Given the description of an element on the screen output the (x, y) to click on. 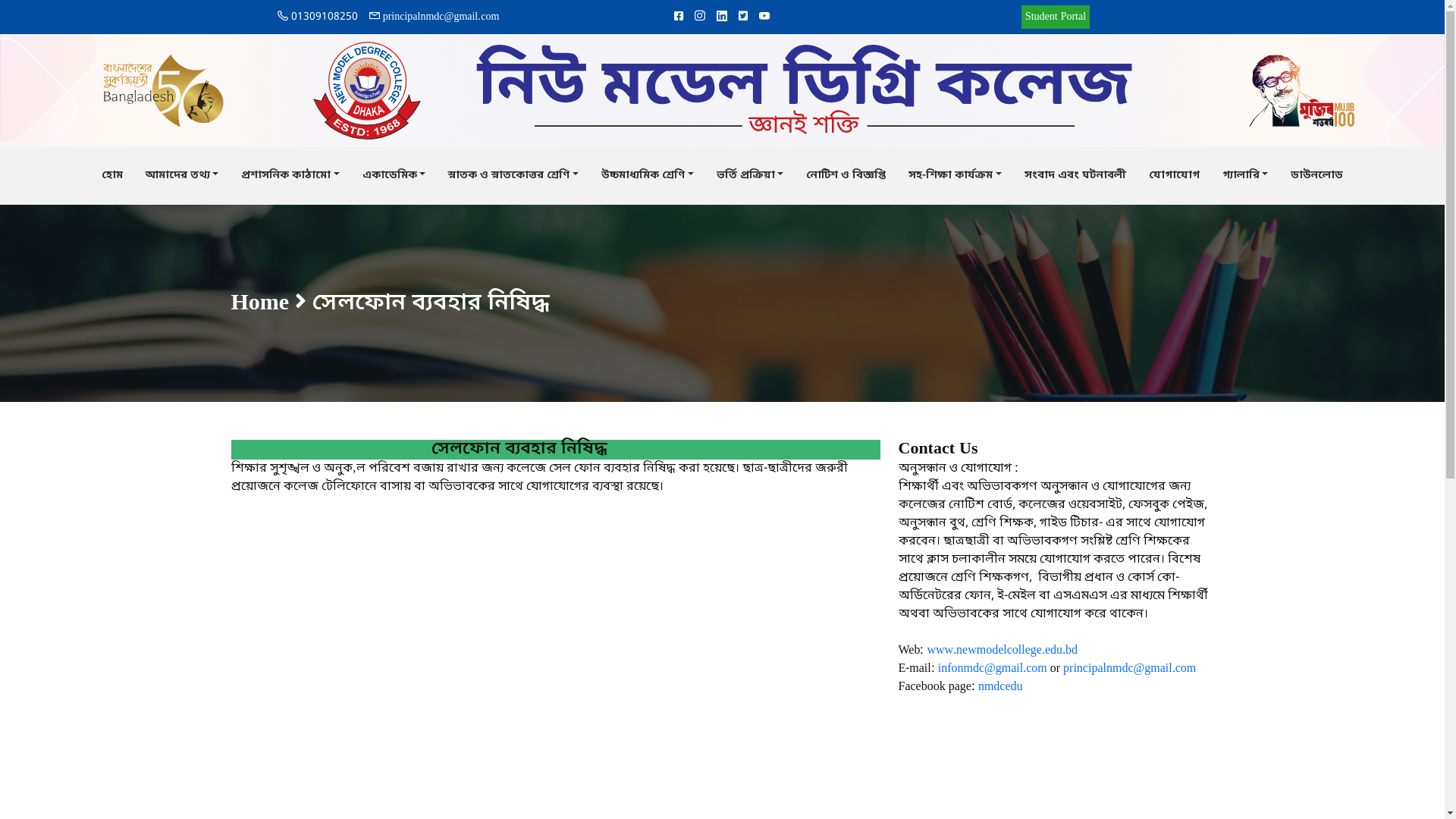
infonmdc@gmail.com Element type: text (992, 668)
Home Element type: text (259, 302)
www.newmodelcollege.edu.bd Element type: text (1001, 650)
nmdcedu Element type: text (1000, 686)
principalnmdc@gmail.com Element type: text (1129, 668)
01309108250 Element type: text (317, 16)
Student Portal Element type: text (1055, 16)
principalnmdc@gmail.com Element type: text (434, 16)
